Given the description of an element on the screen output the (x, y) to click on. 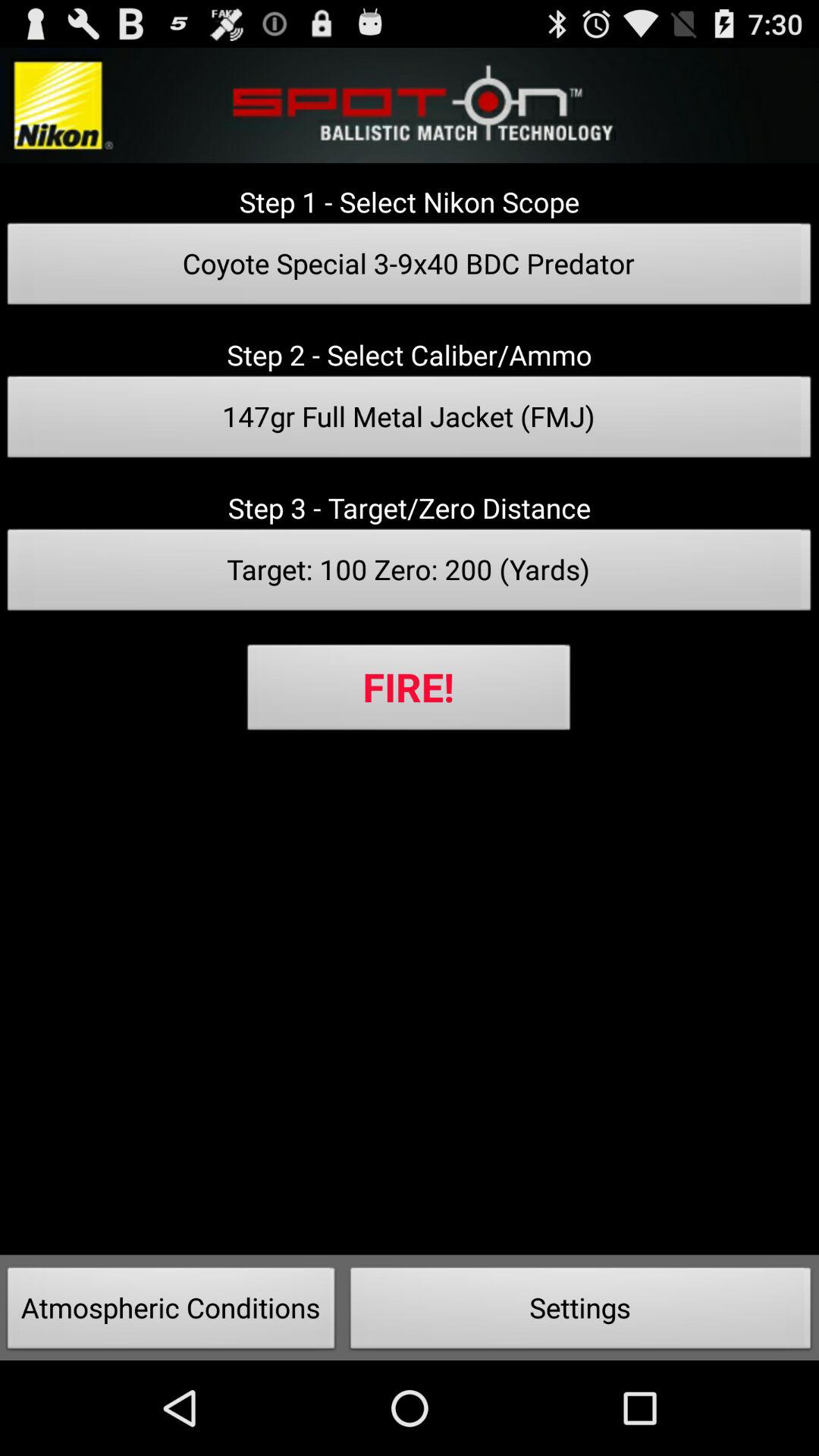
choose the coyote special 3 icon (409, 268)
